Given the description of an element on the screen output the (x, y) to click on. 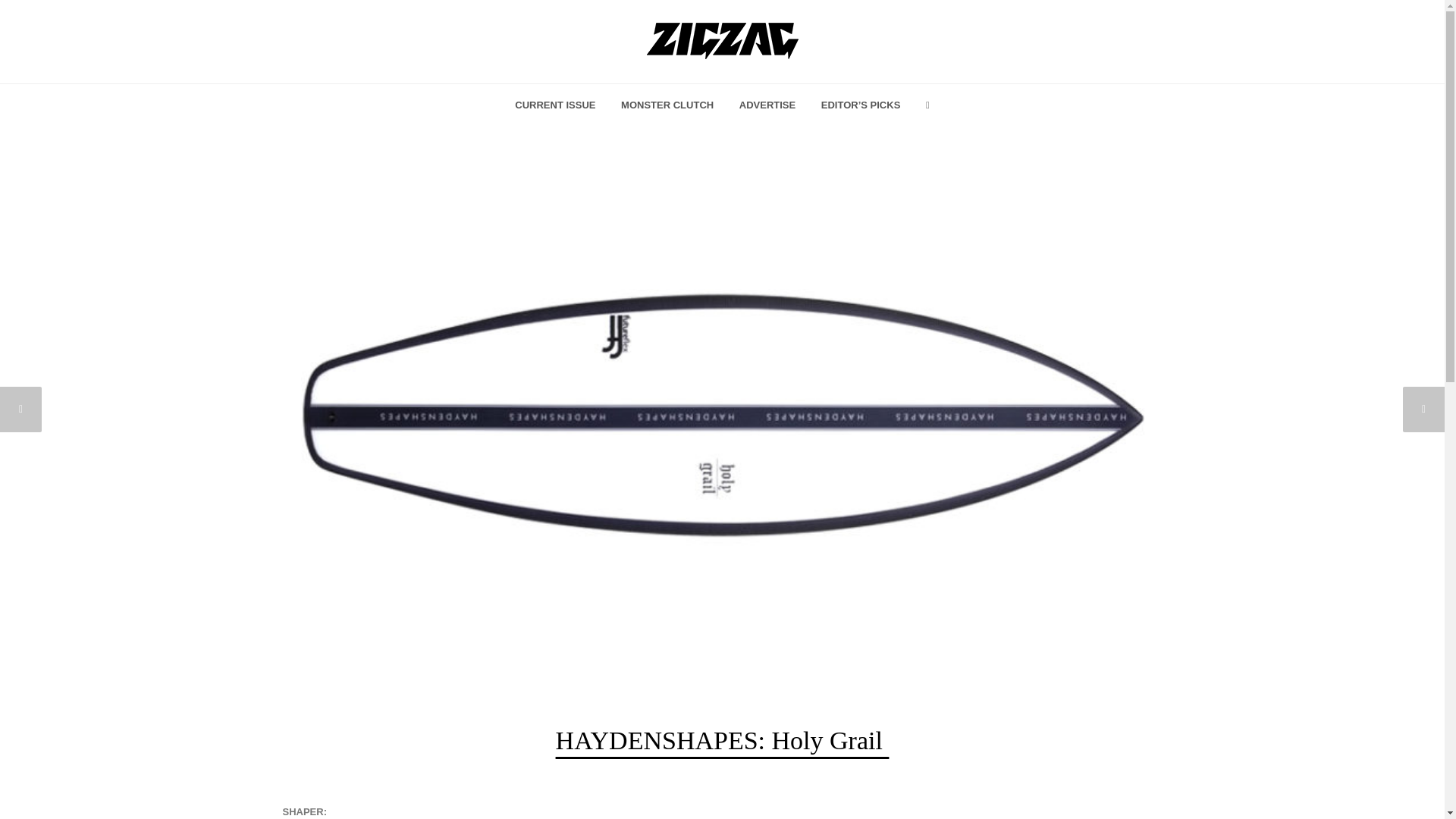
ADVERTISE (767, 105)
CURRENT ISSUE (555, 105)
MONSTER CLUTCH (667, 105)
